Given the description of an element on the screen output the (x, y) to click on. 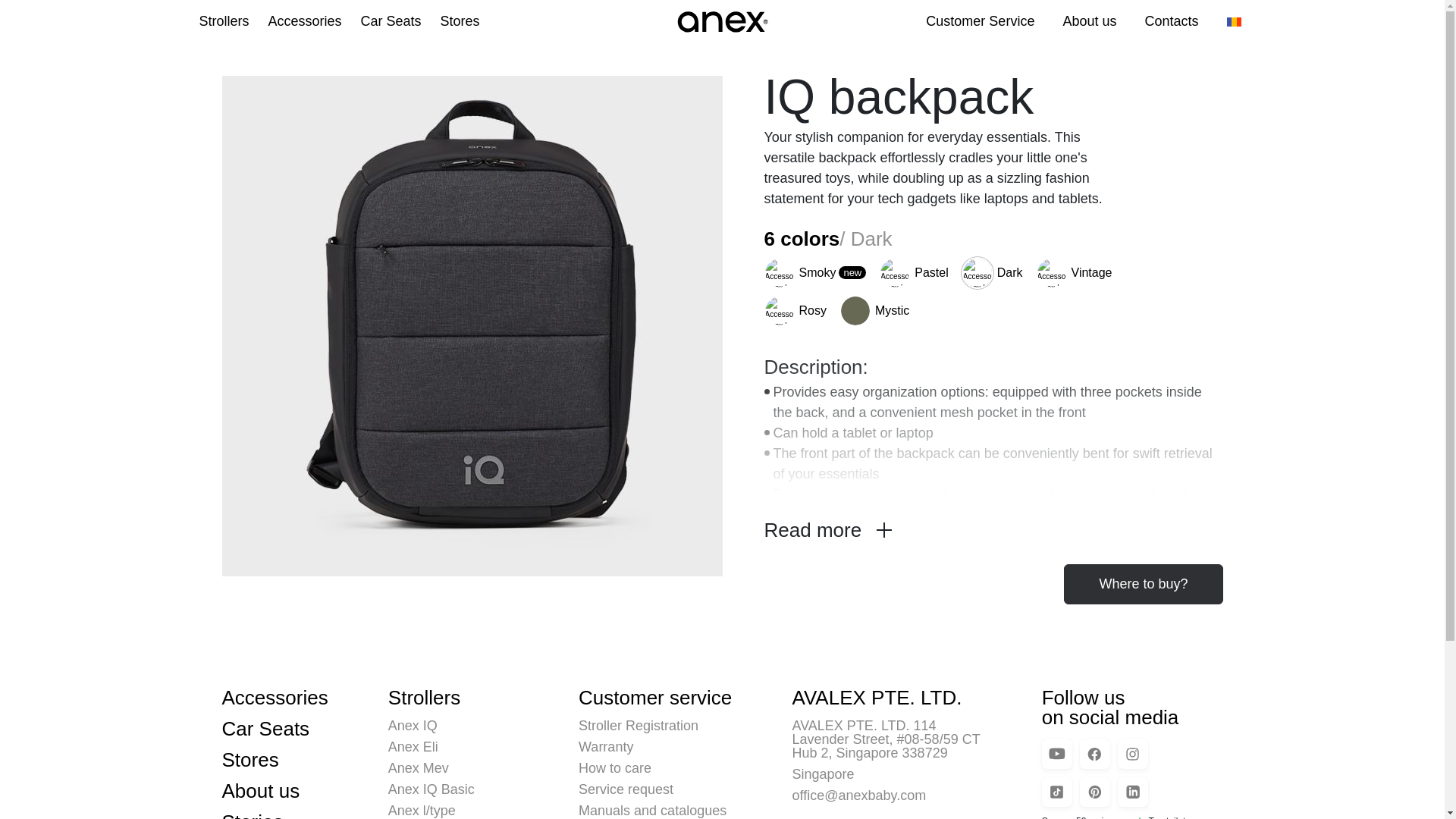
Customer Service (980, 21)
Stores (460, 21)
Contacts (1171, 21)
About us (1089, 21)
Car Seats (391, 21)
Accessories (304, 21)
Strollers (223, 21)
Anex (721, 21)
